Given the description of an element on the screen output the (x, y) to click on. 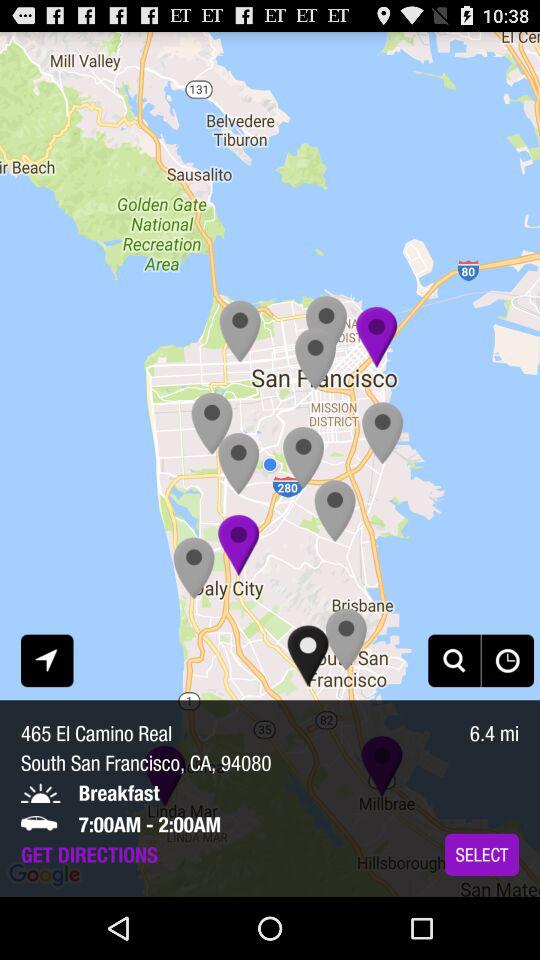
tap app above 6.4 mi app (454, 660)
